Given the description of an element on the screen output the (x, y) to click on. 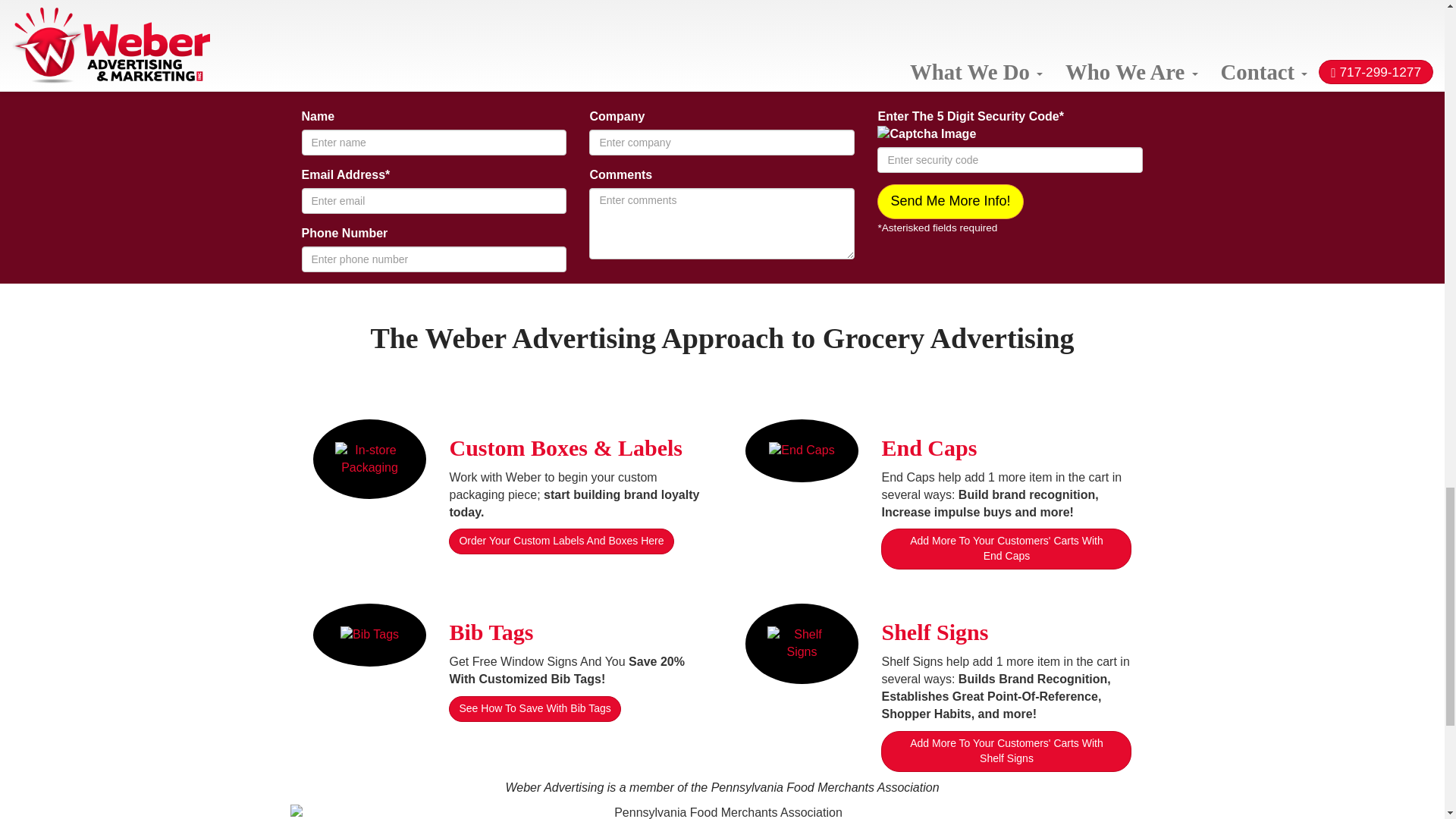
Order Your Custom Labels And Boxes Here (560, 541)
Shelf Signs (934, 631)
See How To Save With Bib Tags (534, 708)
Bib Tags (490, 631)
Send Me More Info! (950, 201)
Add More To Your Customers' Carts With Shelf Signs (1005, 751)
End Caps (928, 447)
Add More To Your Customers' Carts With End Caps (1005, 548)
